Given the description of an element on the screen output the (x, y) to click on. 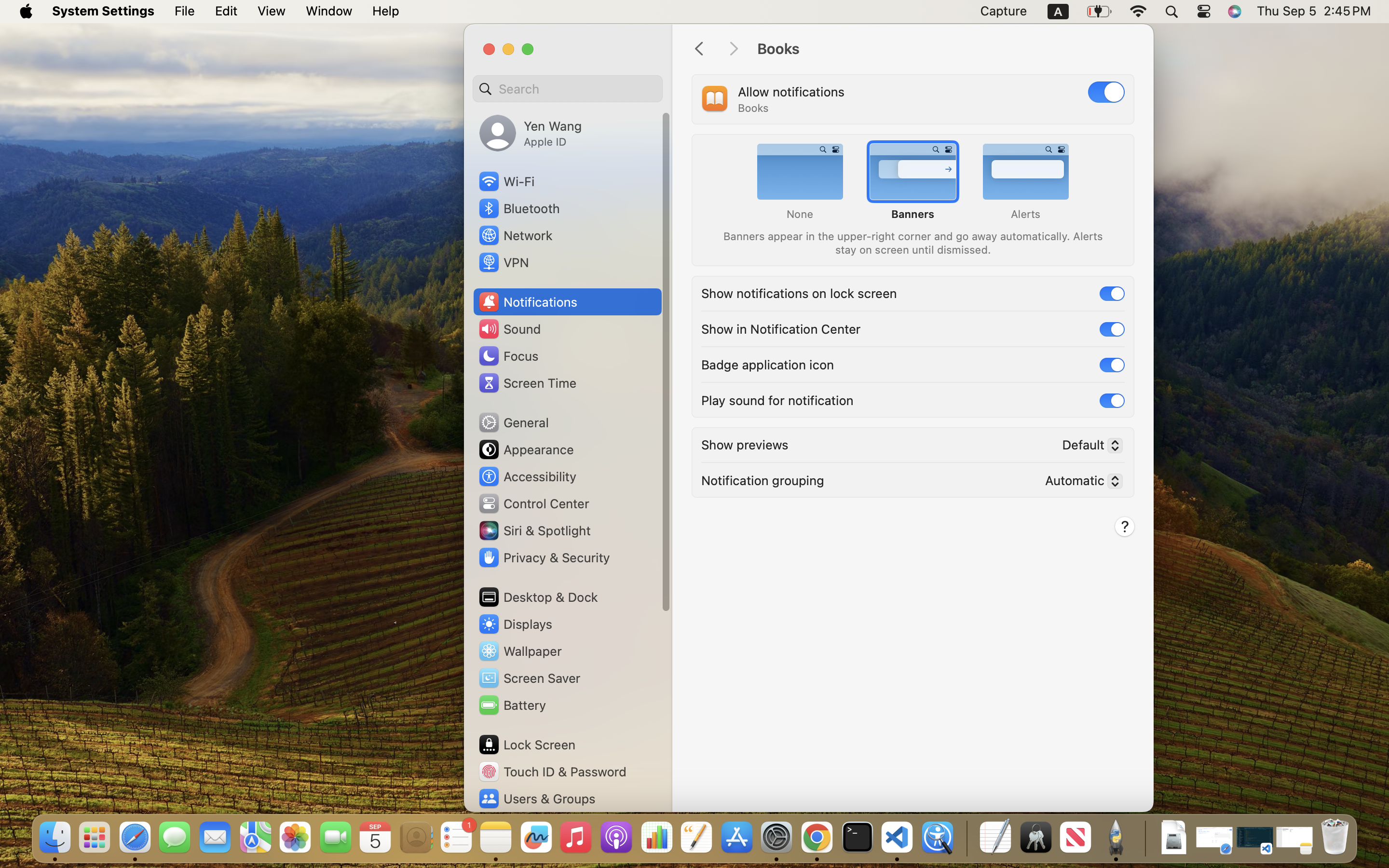
VPN Element type: AXStaticText (502, 261)
